Given the description of an element on the screen output the (x, y) to click on. 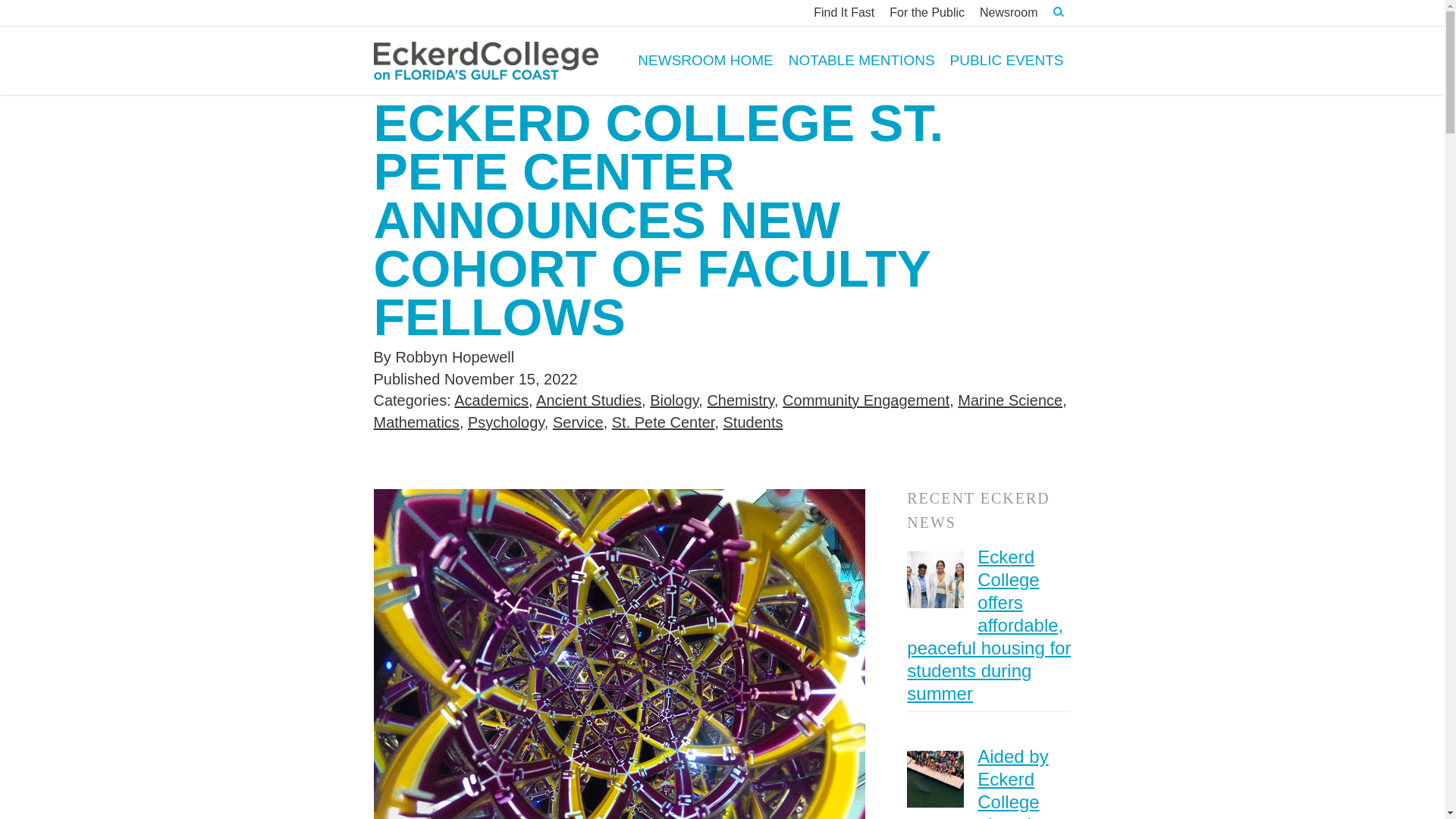
For the Public (927, 12)
Marine Science (1010, 400)
PUBLIC EVENTS (1006, 60)
NEWSROOM HOME (705, 60)
Community Engagement (866, 400)
Academics (491, 400)
Psychology (505, 422)
Ancient Studies (588, 400)
Students (753, 422)
NOTABLE MENTIONS (861, 60)
Go (1040, 59)
Biology (673, 400)
Chemistry (740, 400)
St. Pete Center (662, 422)
